Given the description of an element on the screen output the (x, y) to click on. 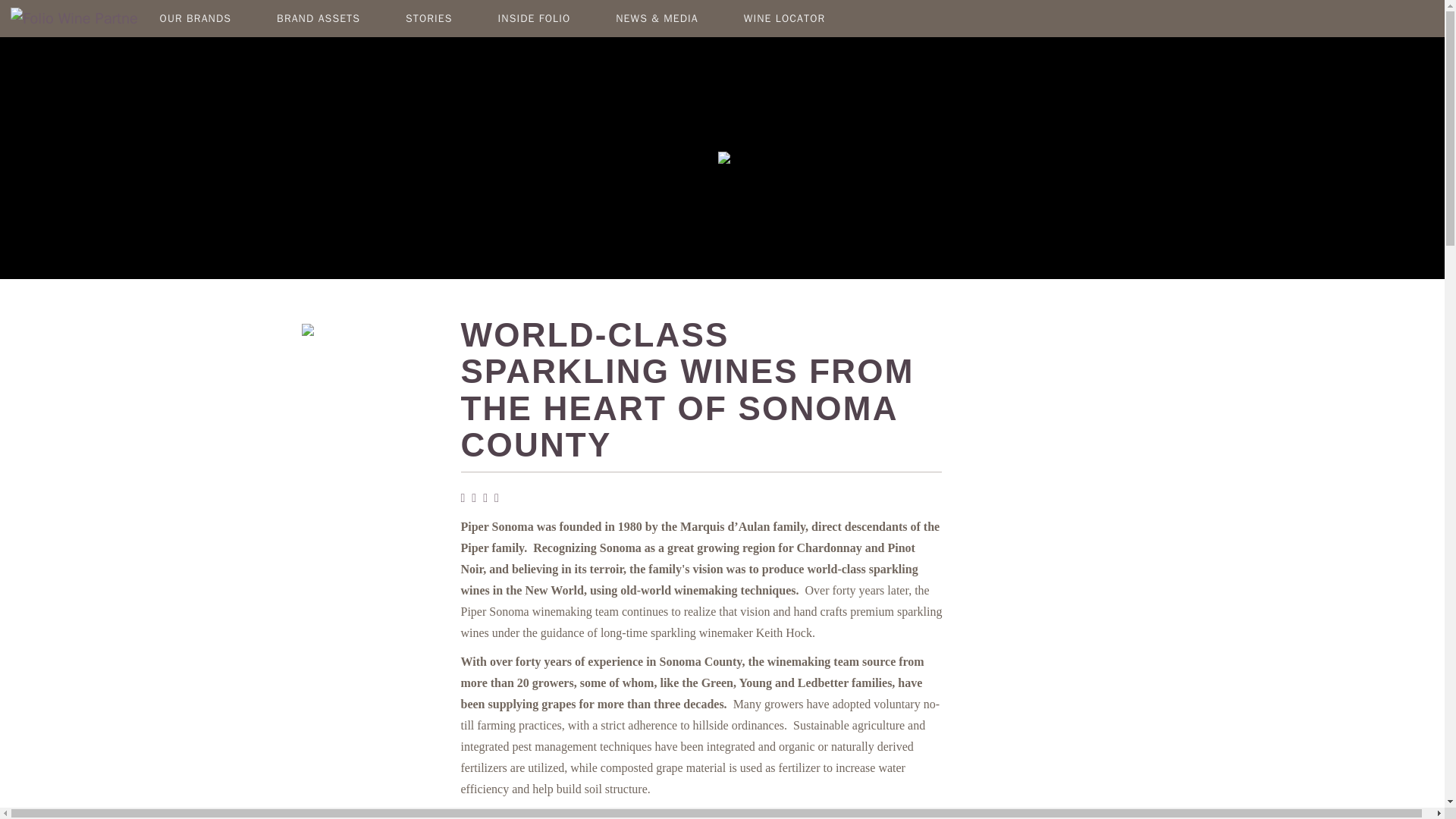
OUR BRANDS (195, 23)
